Given the description of an element on the screen output the (x, y) to click on. 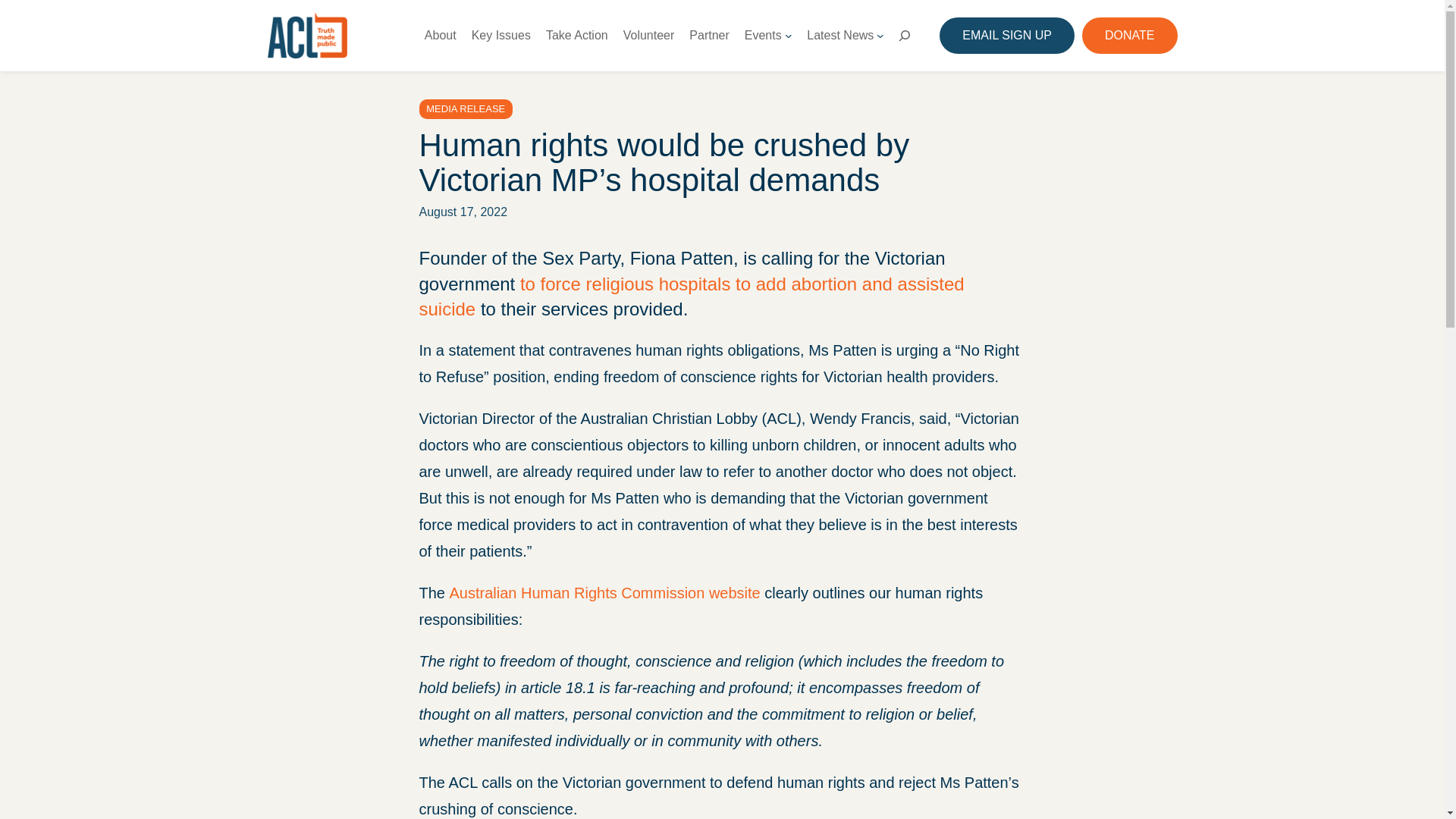
About (441, 35)
Take Action (577, 35)
DONATE (1128, 35)
Volunteer (649, 35)
Key Issues (501, 35)
Australian Human Rights Commission website (604, 592)
EMAIL SIGN UP (1006, 35)
Latest News (839, 35)
Events (762, 35)
